Given the description of an element on the screen output the (x, y) to click on. 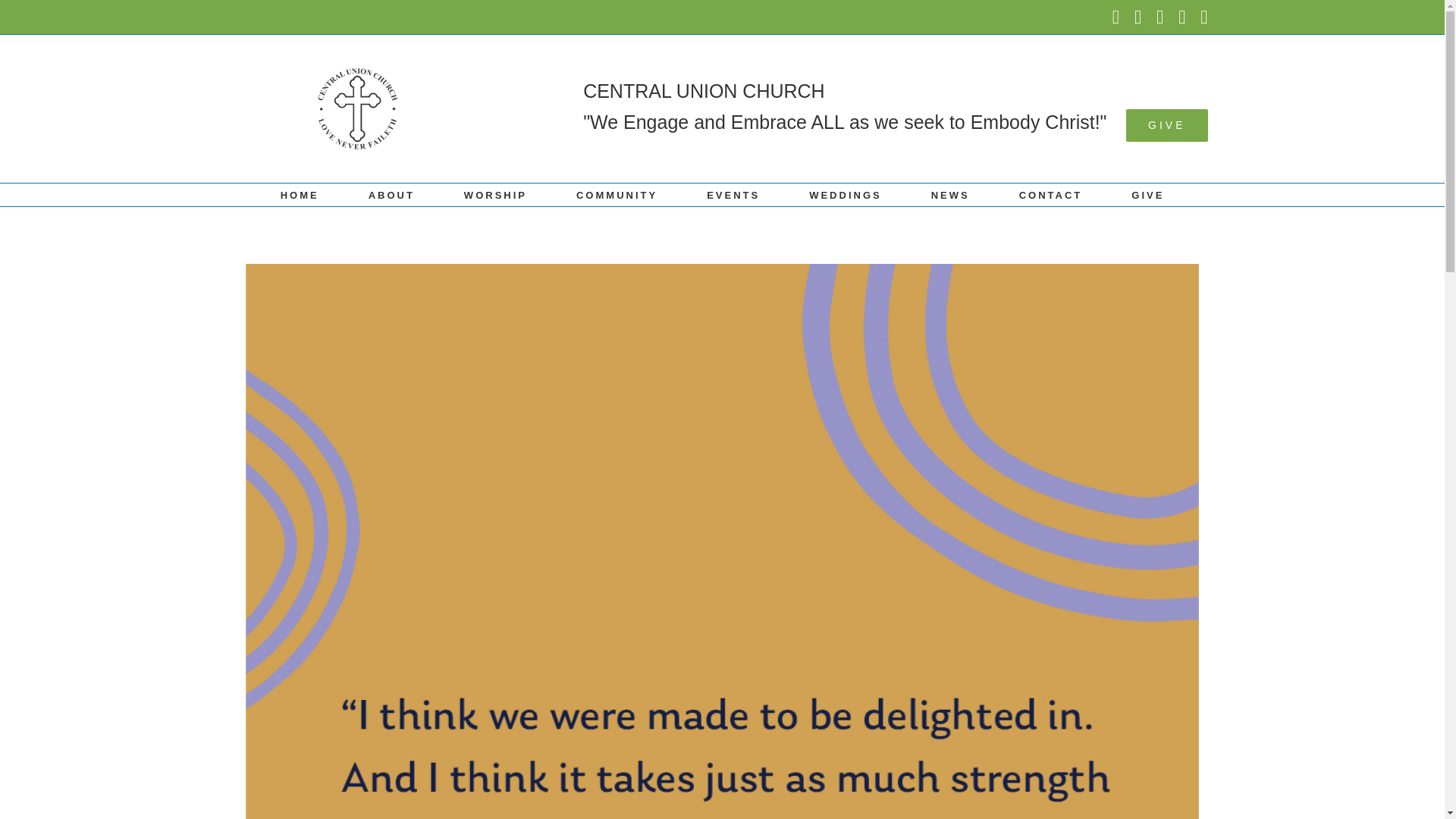
WEDDINGS (845, 194)
GIVE (1166, 124)
GIVE (1147, 194)
WORSHIP (495, 194)
NEWS (950, 194)
HOME (299, 194)
COMMUNITY (617, 194)
EVENTS (733, 194)
CONTACT (1051, 194)
ABOUT (391, 194)
